Given the description of an element on the screen output the (x, y) to click on. 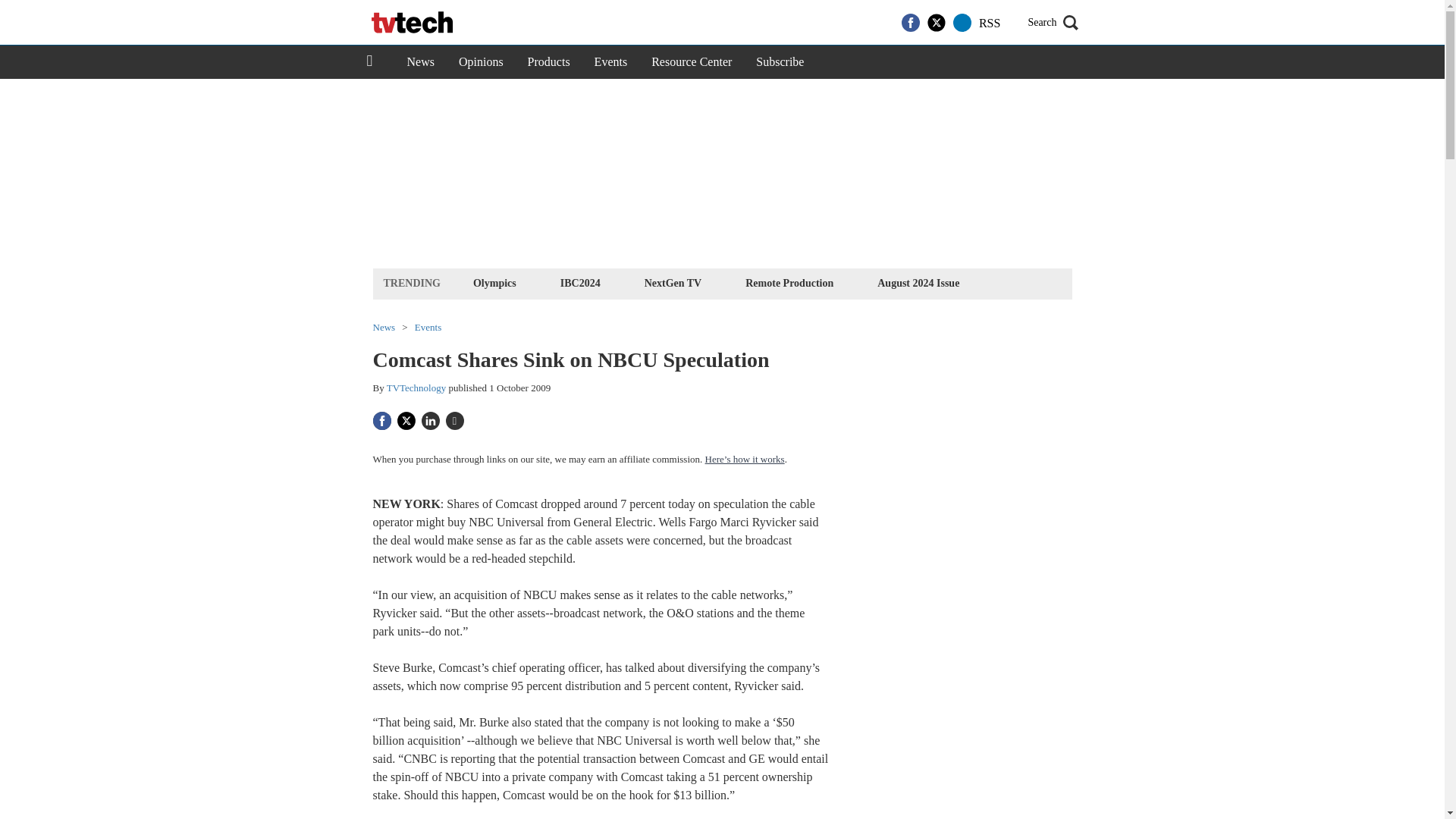
Opinions (480, 61)
Events (611, 61)
RSS (989, 22)
Olympics (494, 282)
Remote Production (788, 282)
Products (548, 61)
NextGen TV (673, 282)
August 2024 Issue (917, 282)
IBC2024 (579, 282)
News (419, 61)
